Given the description of an element on the screen output the (x, y) to click on. 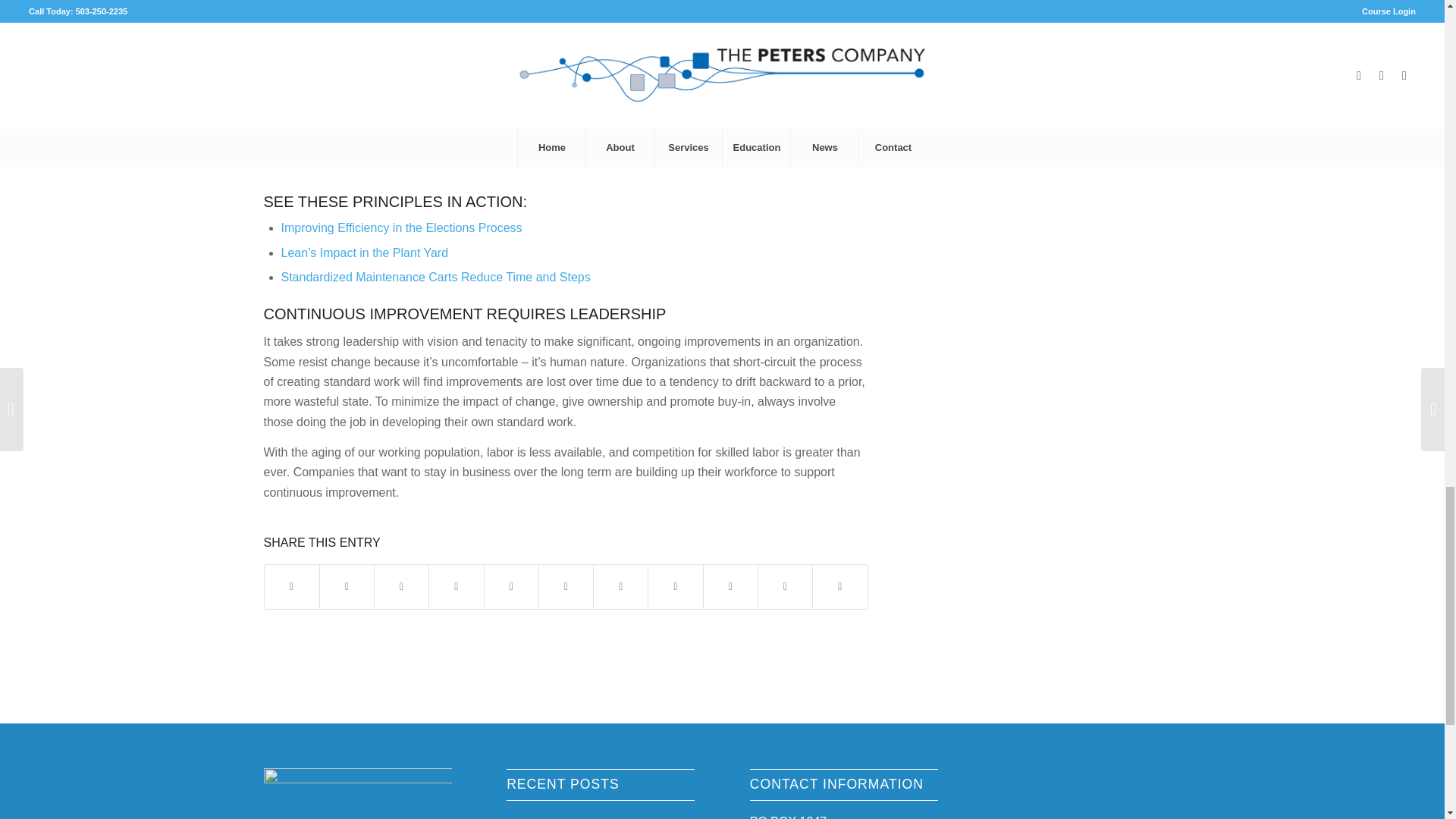
Standardized Maintenance Carts Reduce Time and Steps (435, 277)
Improving Efficiency in the Elections Process (401, 227)
